Given the description of an element on the screen output the (x, y) to click on. 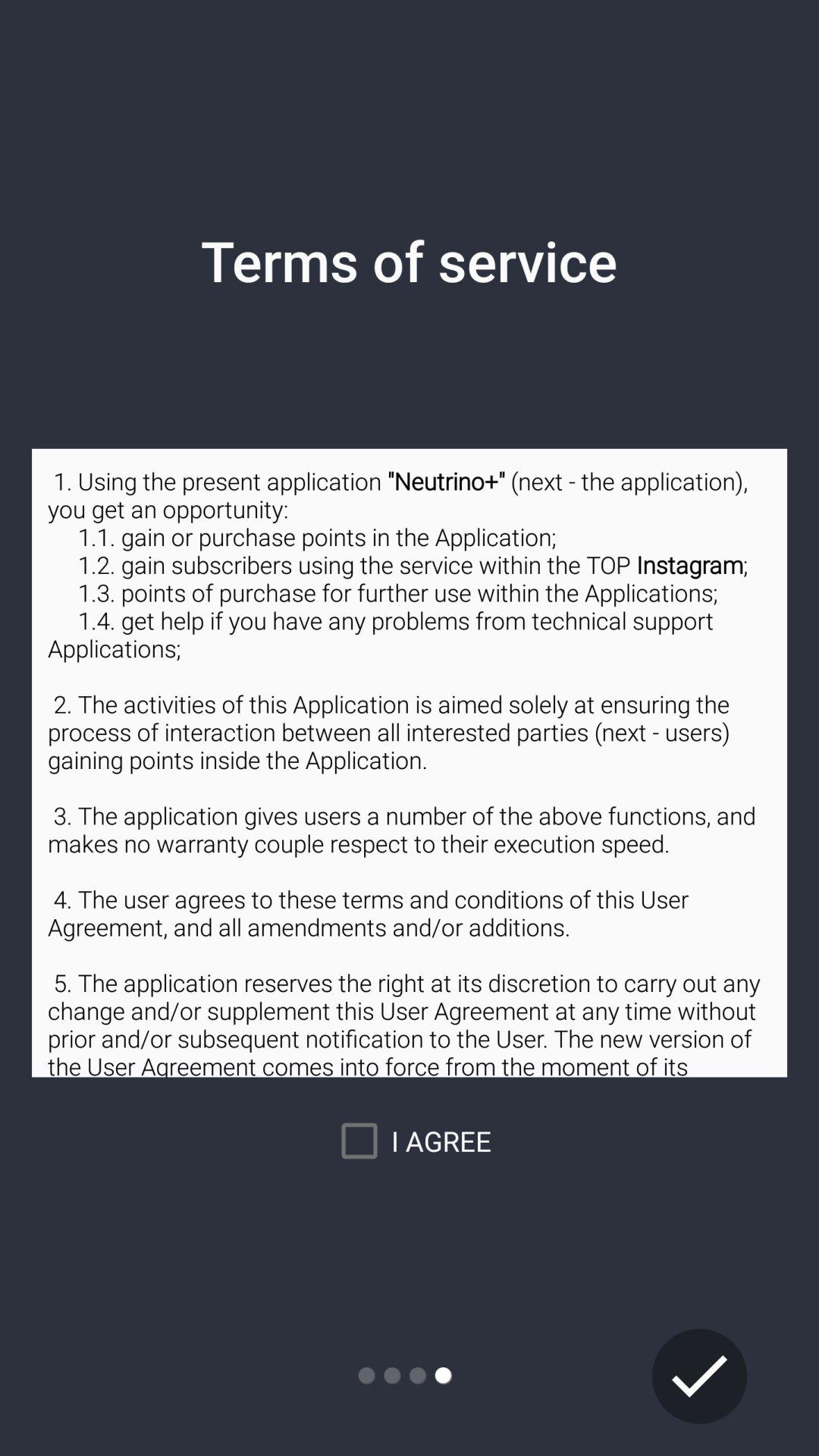
launch the icon at the bottom right corner (699, 1376)
